Given the description of an element on the screen output the (x, y) to click on. 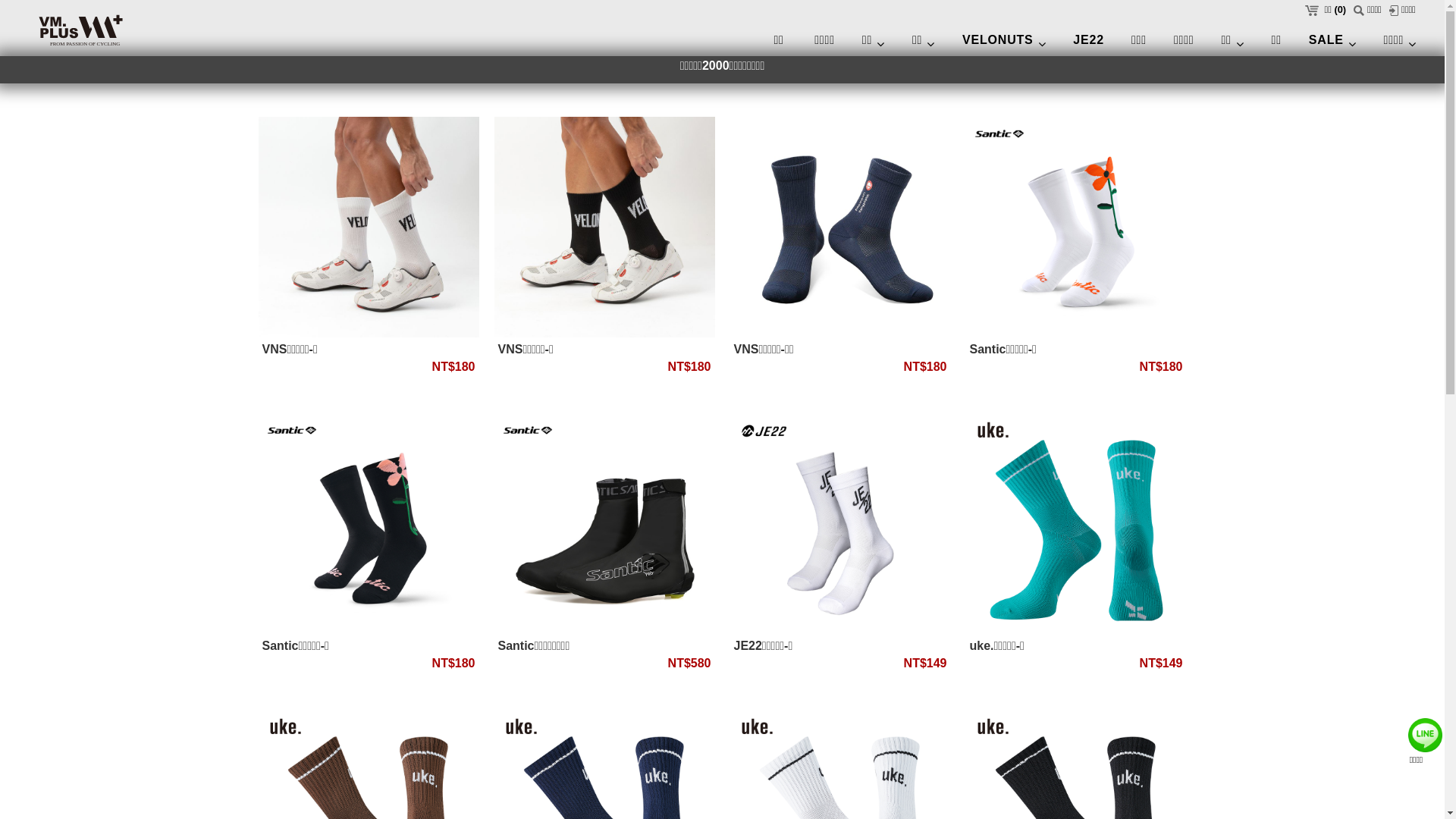
JE22 Element type: text (1088, 40)
VELONUTS Element type: text (1003, 42)
SALE Element type: text (1332, 42)
